Given the description of an element on the screen output the (x, y) to click on. 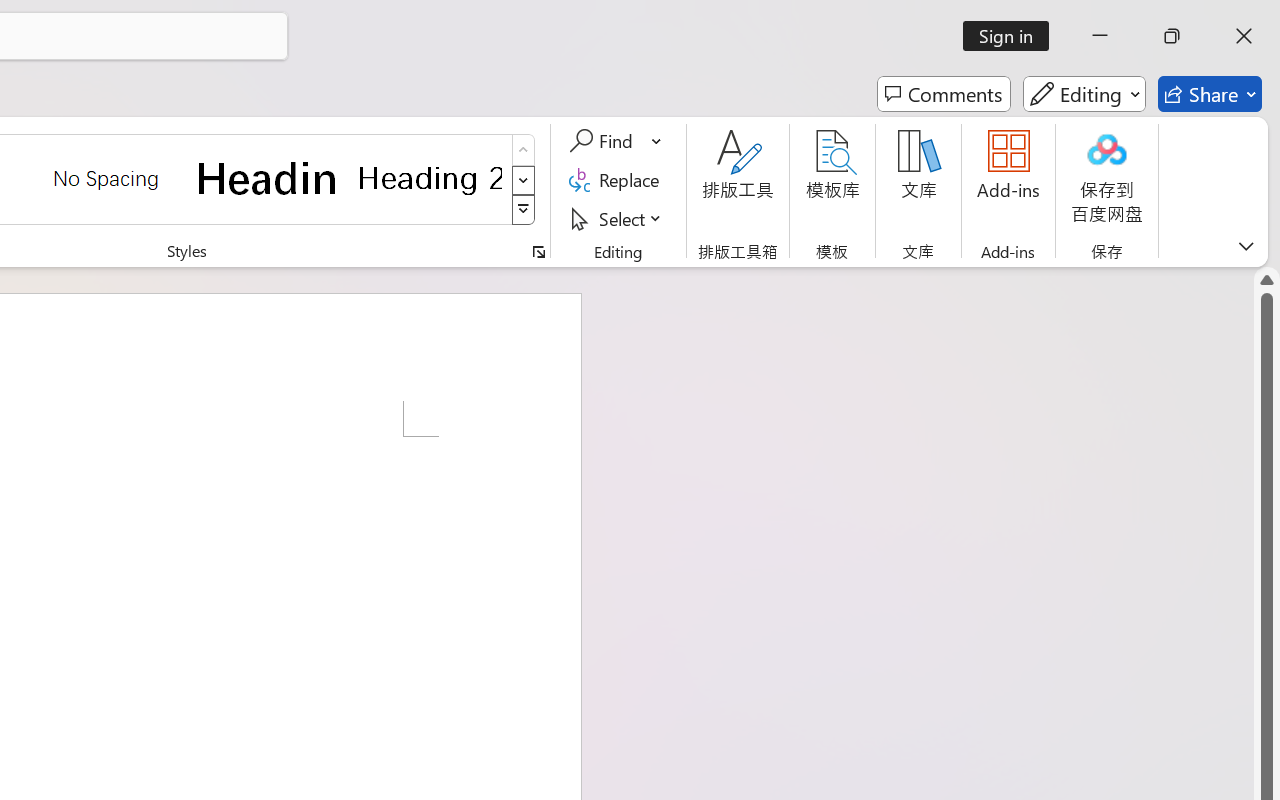
Line up (1267, 279)
